Given the description of an element on the screen output the (x, y) to click on. 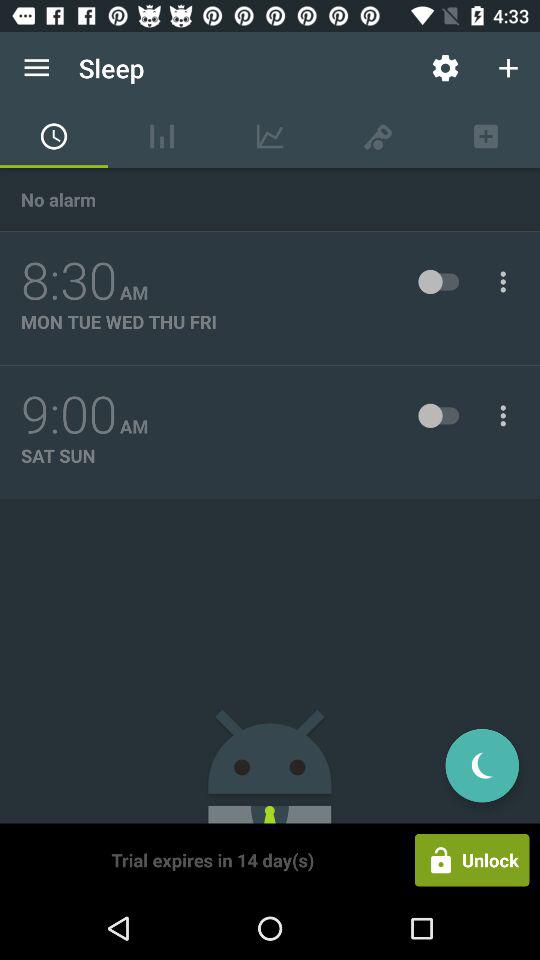
turn off icon below the no alarm (69, 281)
